Given the description of an element on the screen output the (x, y) to click on. 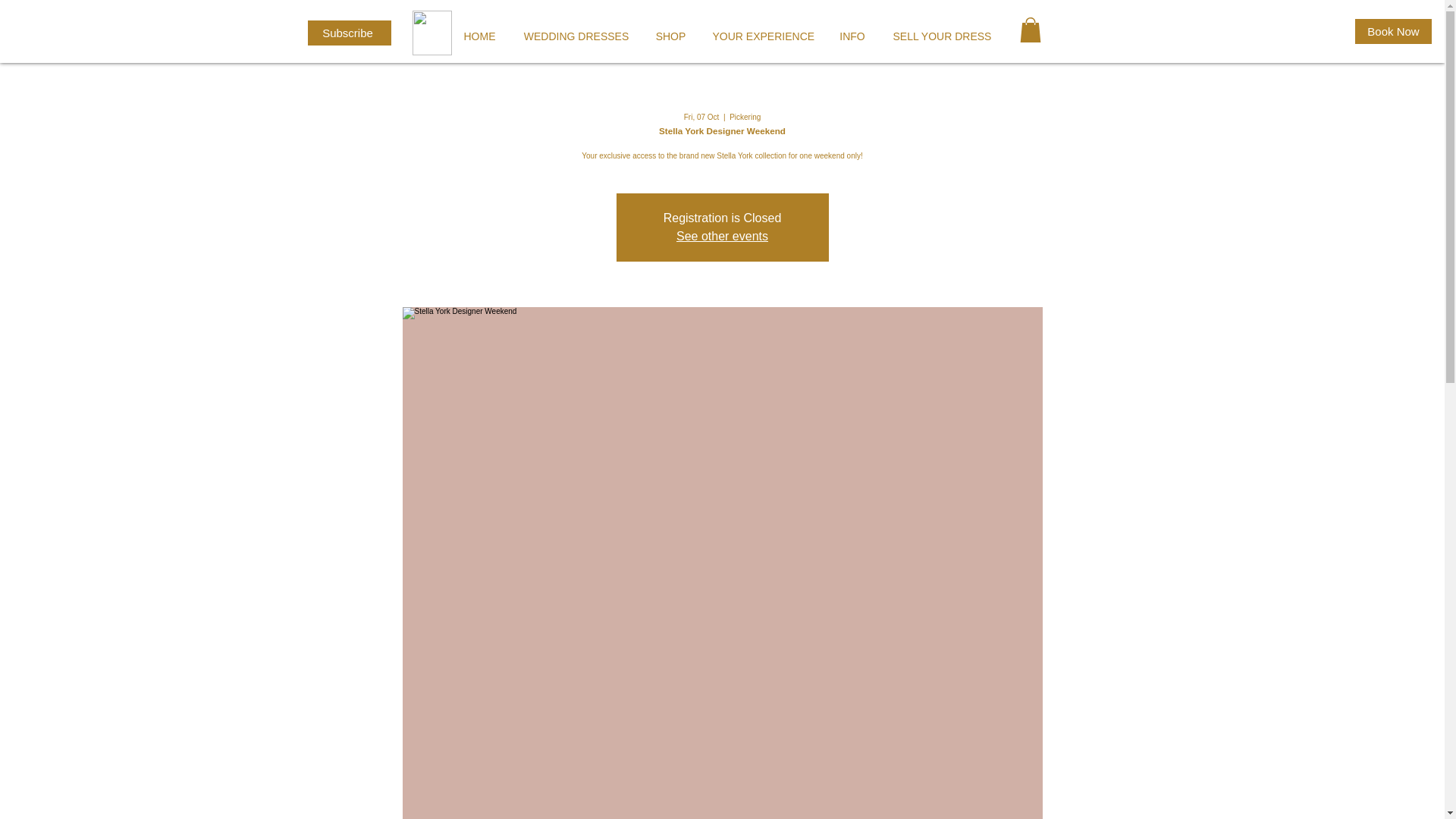
WEDDING DRESSES (576, 36)
Book Now (1393, 31)
See other events (722, 236)
Subscribe (349, 32)
HOME (479, 36)
SELL YOUR DRESS (938, 36)
YOUR EXPERIENCE (761, 36)
SHOP (670, 36)
